Given the description of an element on the screen output the (x, y) to click on. 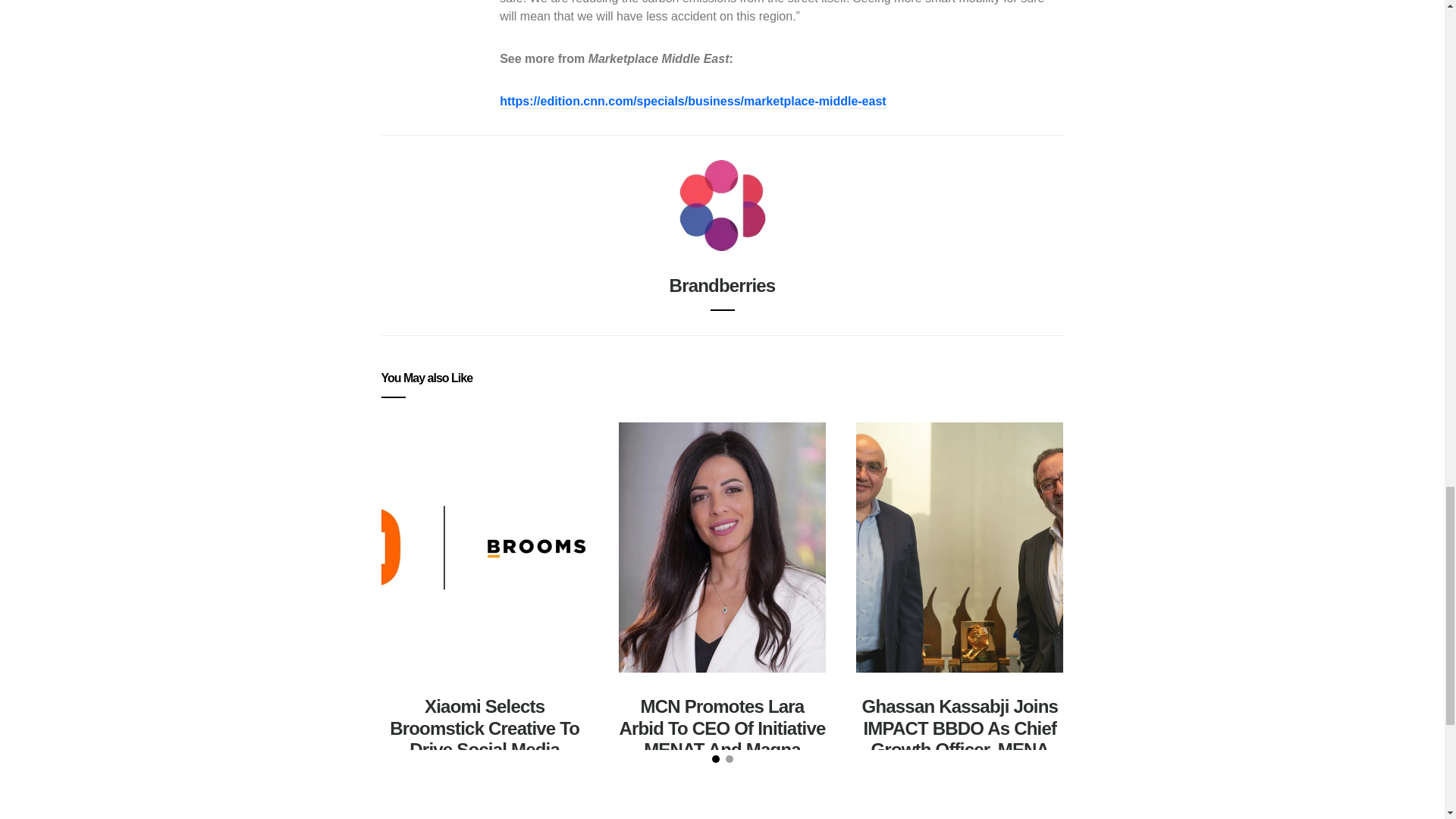
Posts by Brandberries (722, 285)
Brandberries (722, 285)
